Given the description of an element on the screen output the (x, y) to click on. 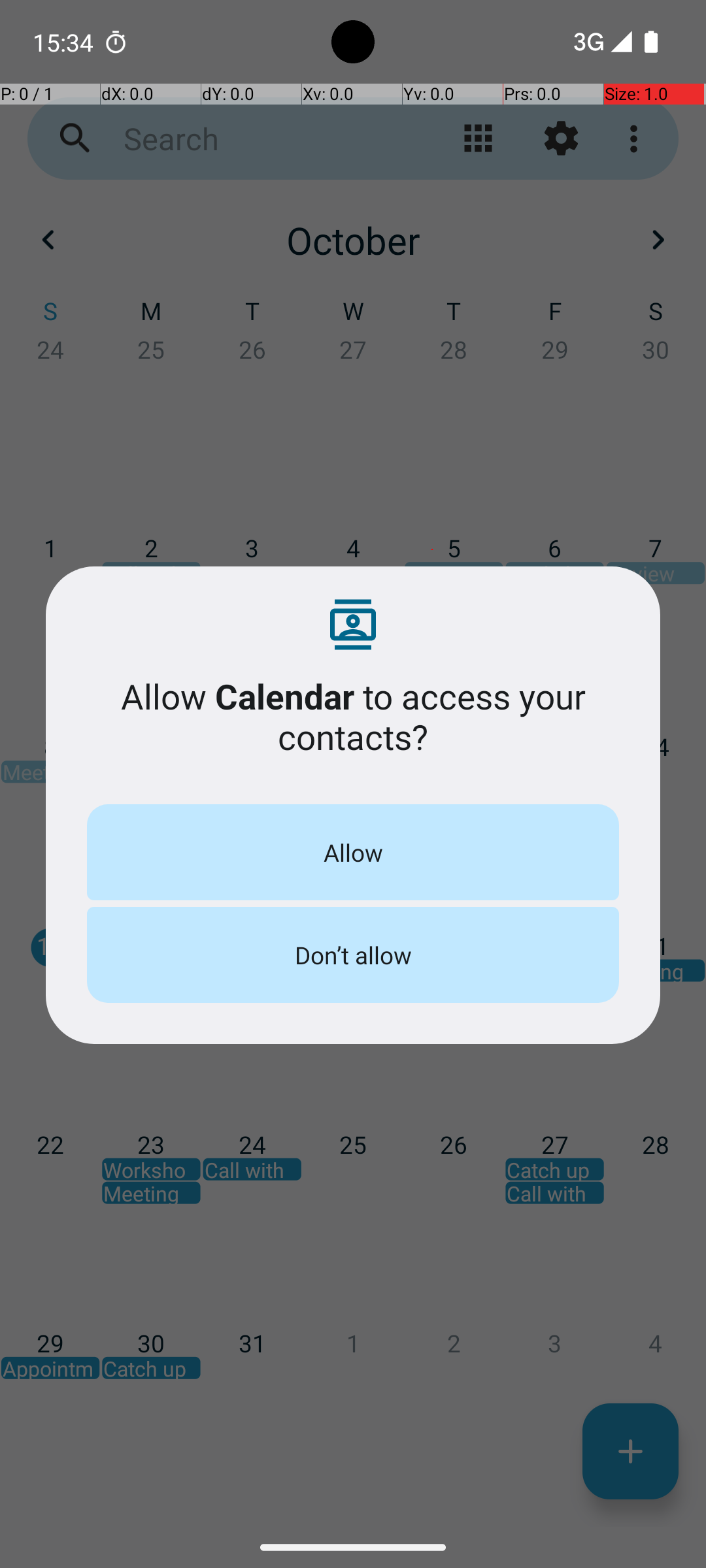
Allow Calendar to access your contacts? Element type: android.widget.TextView (352, 715)
